Given the description of an element on the screen output the (x, y) to click on. 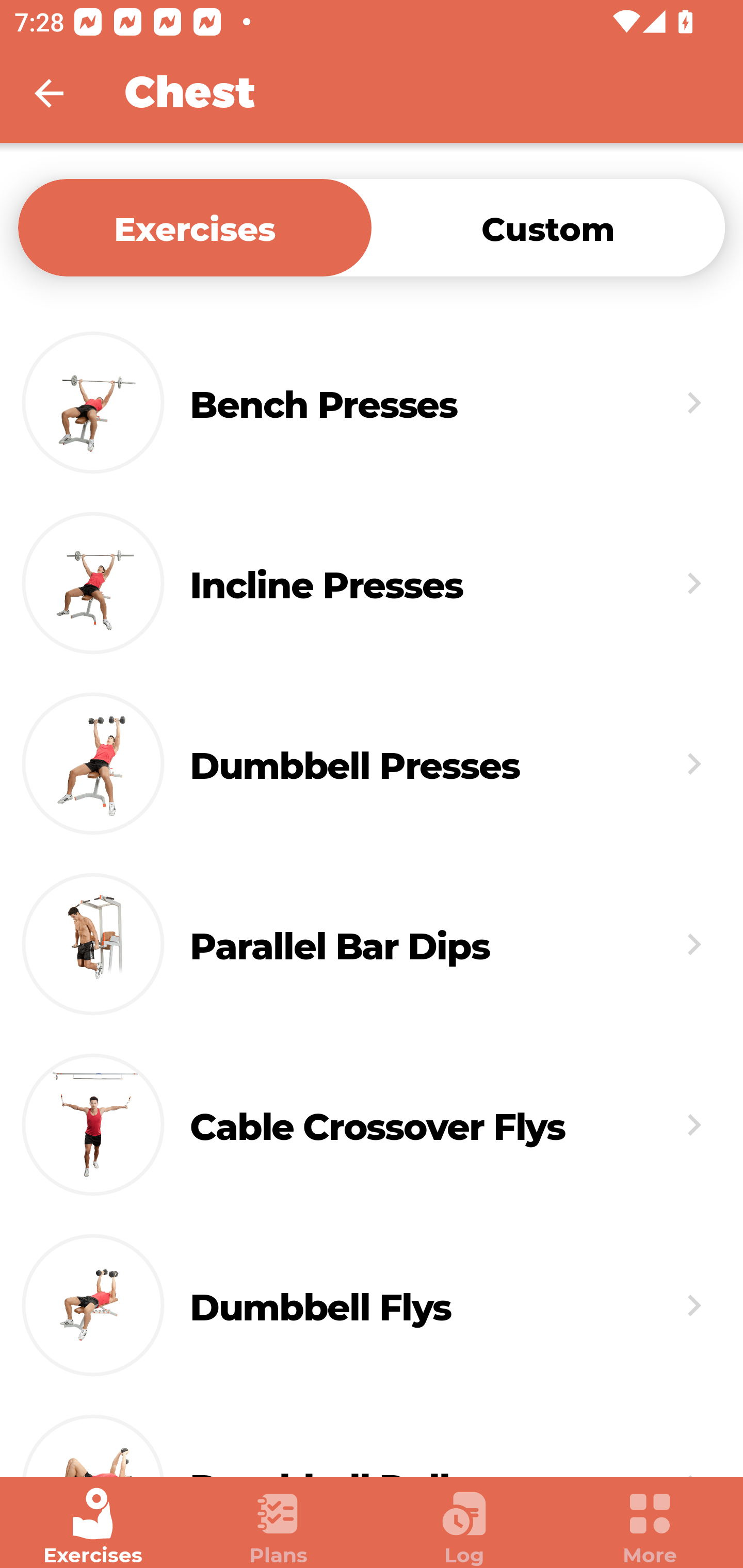
Back (62, 92)
Exercises (194, 226)
Custom (548, 226)
Exercises (92, 1527)
Plans (278, 1527)
Log (464, 1527)
More (650, 1527)
